Given the description of an element on the screen output the (x, y) to click on. 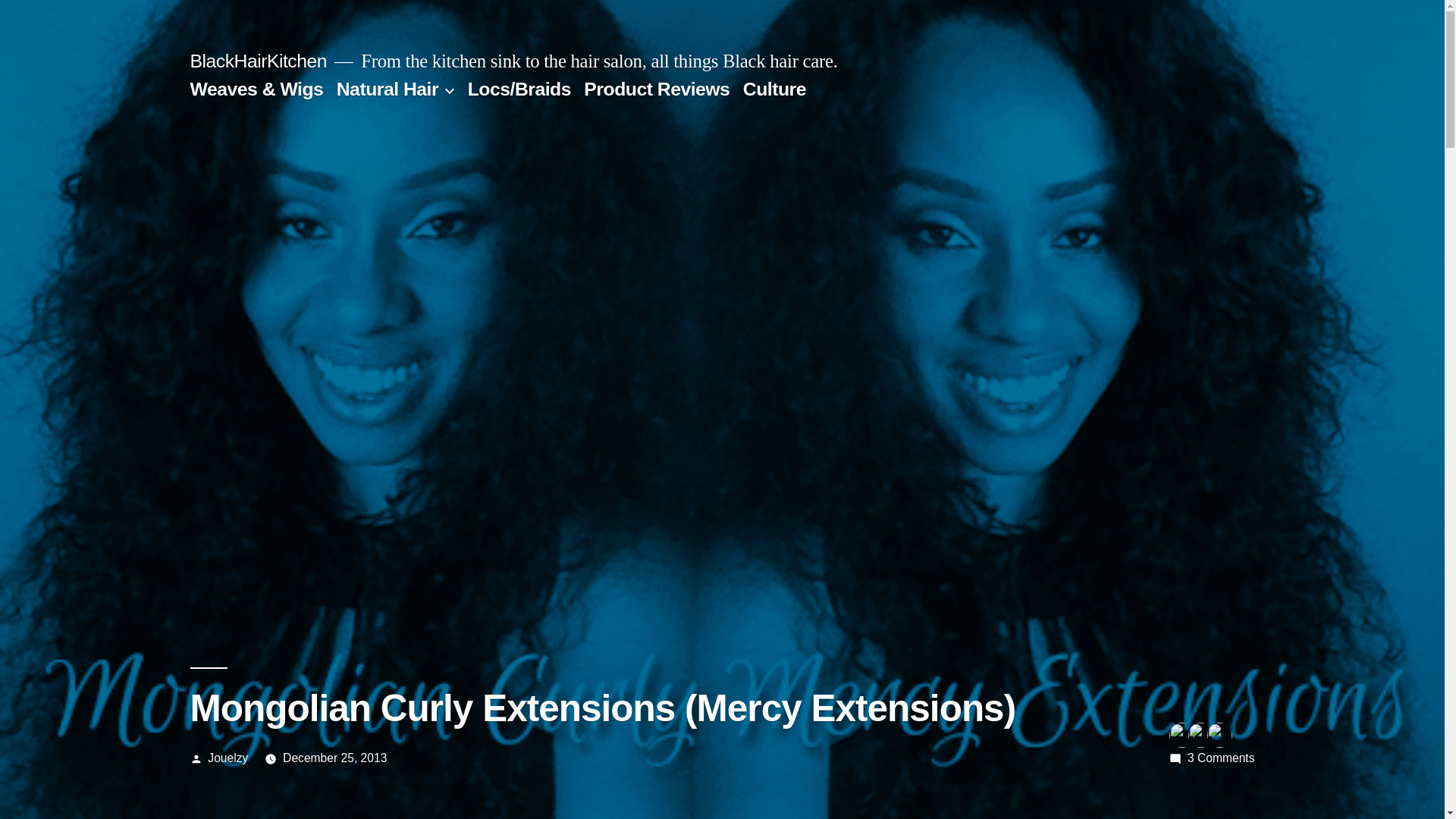
December 25, 2013 (334, 757)
BlackHairKitchen (257, 60)
Product Reviews (656, 88)
Jouelzy (227, 757)
Natural Hair (387, 88)
Culture (774, 88)
